Given the description of an element on the screen output the (x, y) to click on. 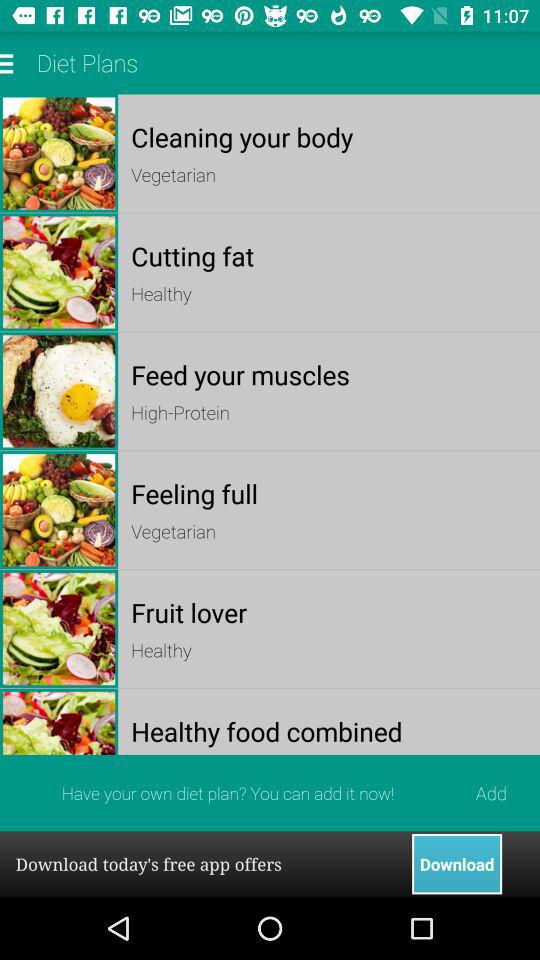
tap icon below healthy item (328, 374)
